Given the description of an element on the screen output the (x, y) to click on. 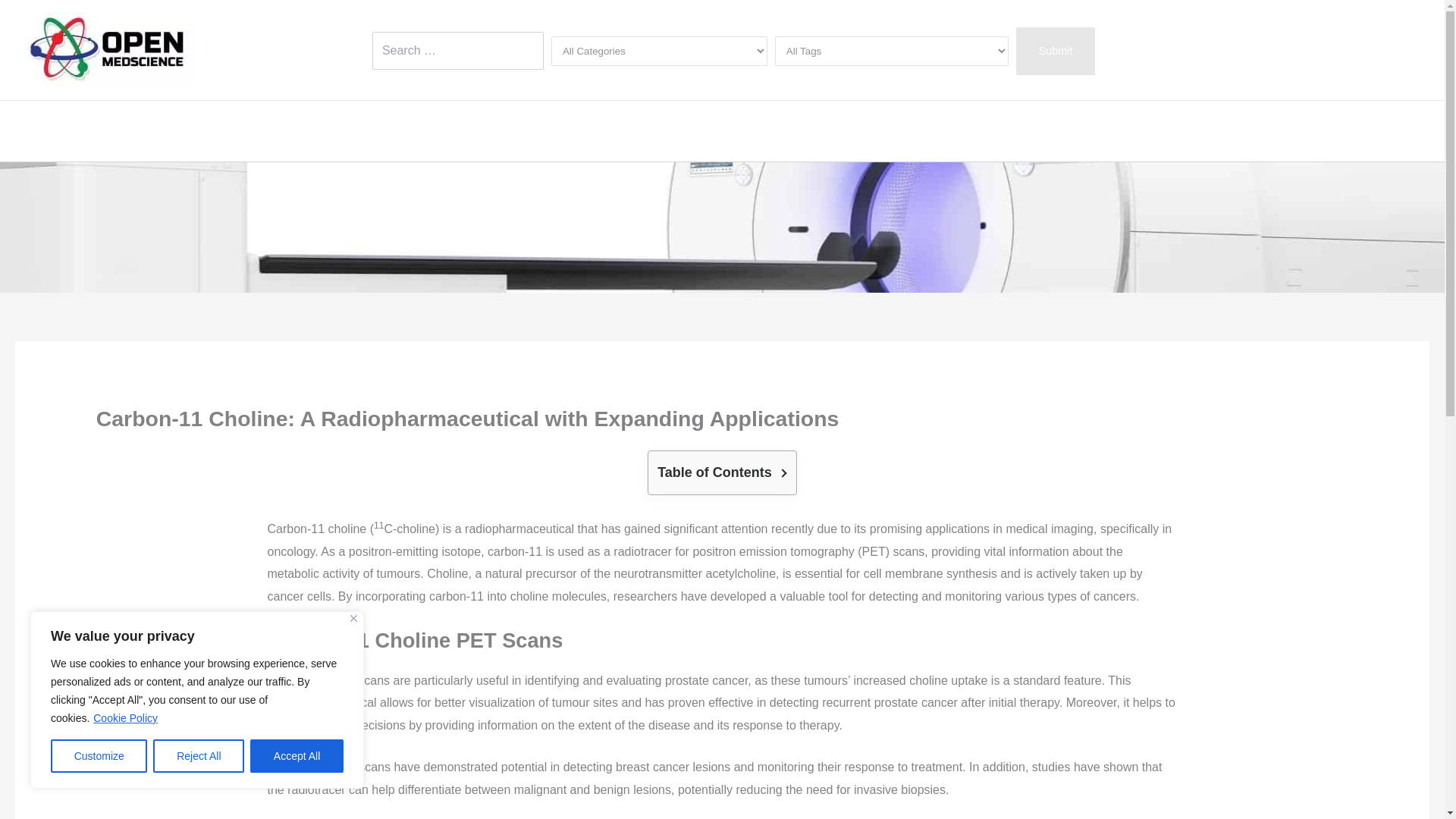
Topics (843, 130)
Cookie Policy (125, 717)
News (903, 130)
Submit (1055, 50)
Medical Imaging (346, 130)
Customize (98, 756)
Radiotheranostics (747, 130)
Technology (977, 130)
Reject All (198, 756)
Contact (1122, 130)
Accept All (296, 756)
Submit (1055, 50)
Radiopharm (635, 130)
About (435, 130)
Therapy (552, 130)
